Given the description of an element on the screen output the (x, y) to click on. 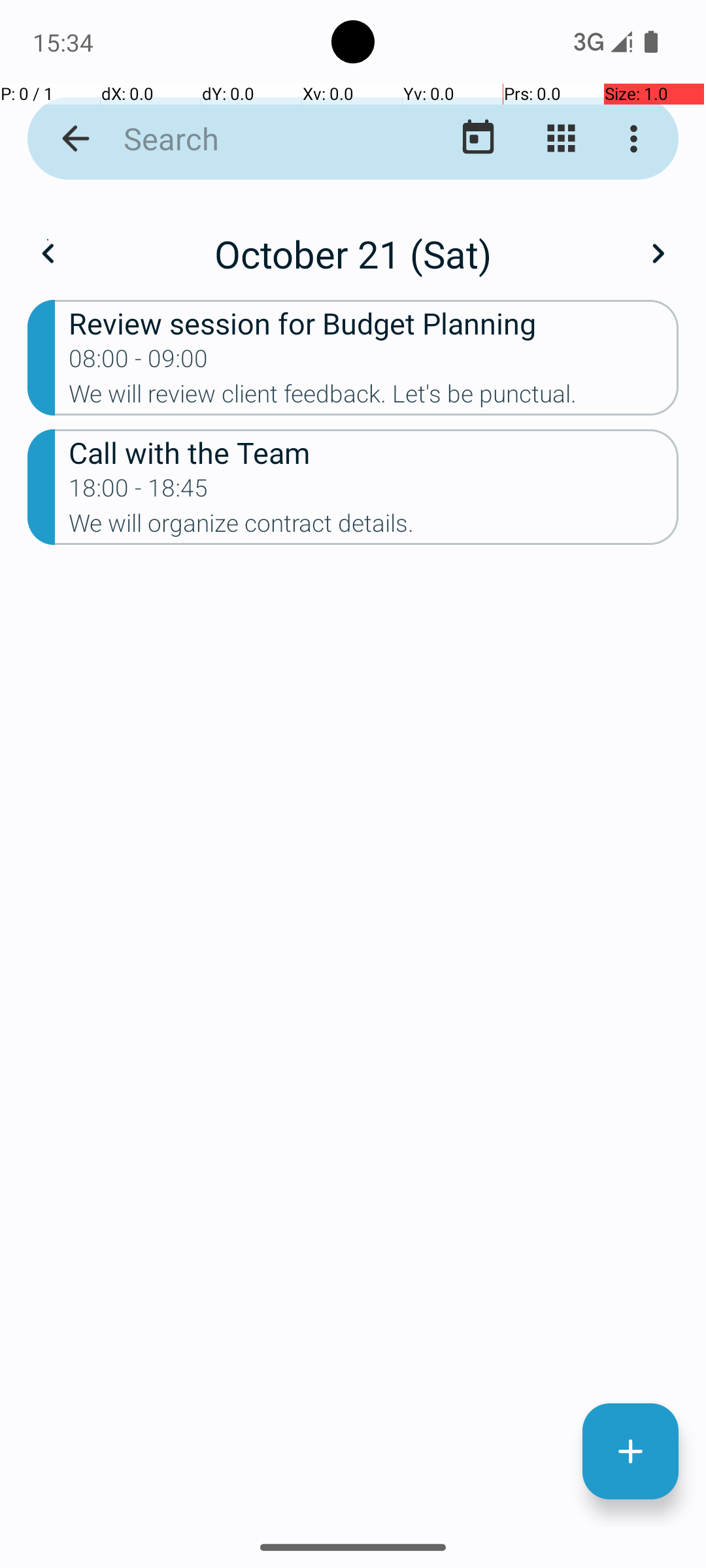
October 21 (Sat) Element type: android.widget.TextView (352, 253)
08:00 - 09:00 Element type: android.widget.TextView (137, 362)
We will review client feedback. Let's be punctual. Element type: android.widget.TextView (373, 397)
18:00 - 18:45 Element type: android.widget.TextView (137, 491)
We will organize contract details. Element type: android.widget.TextView (373, 526)
